Given the description of an element on the screen output the (x, y) to click on. 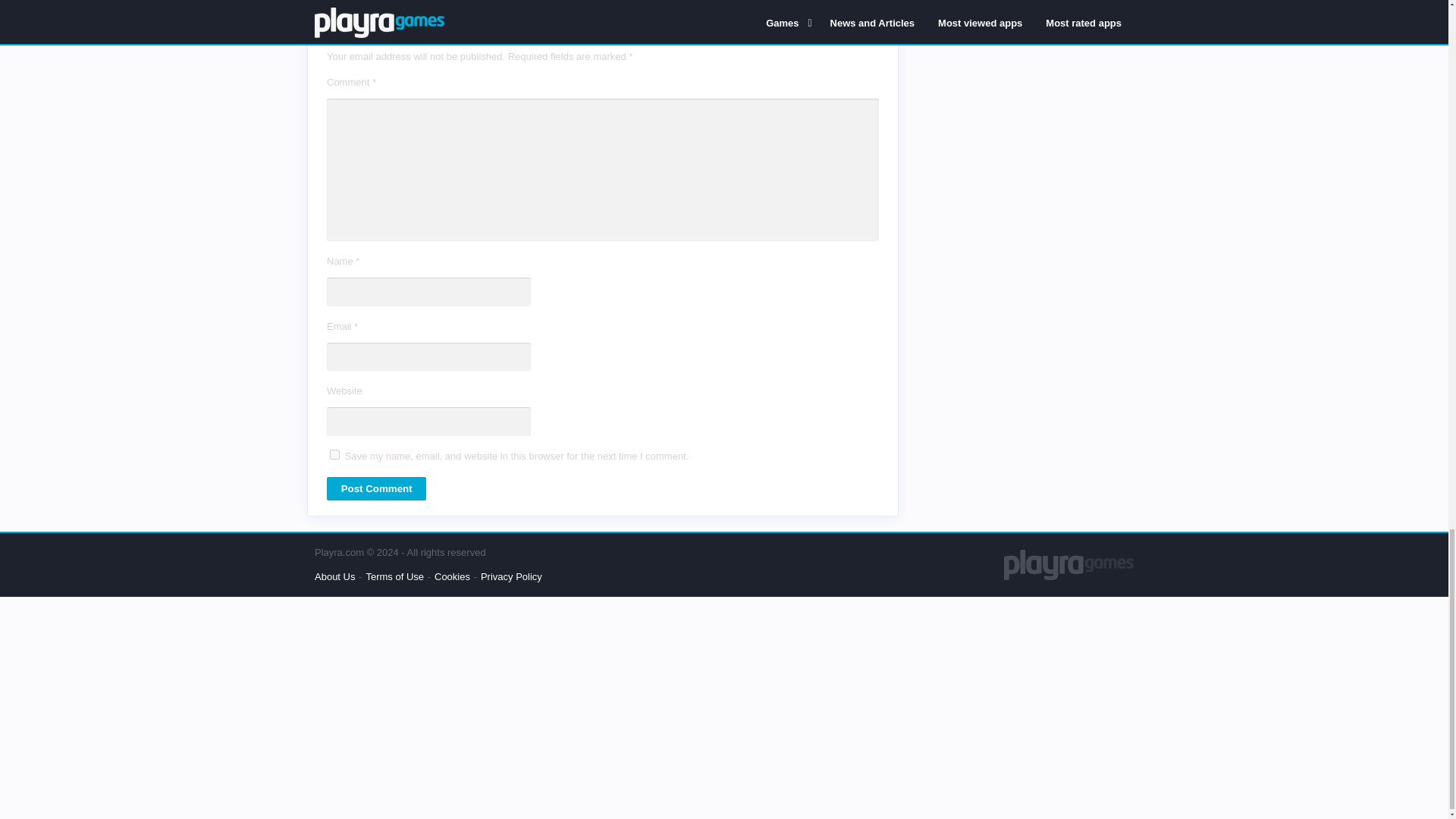
Post Comment (376, 488)
yes (334, 454)
